Given the description of an element on the screen output the (x, y) to click on. 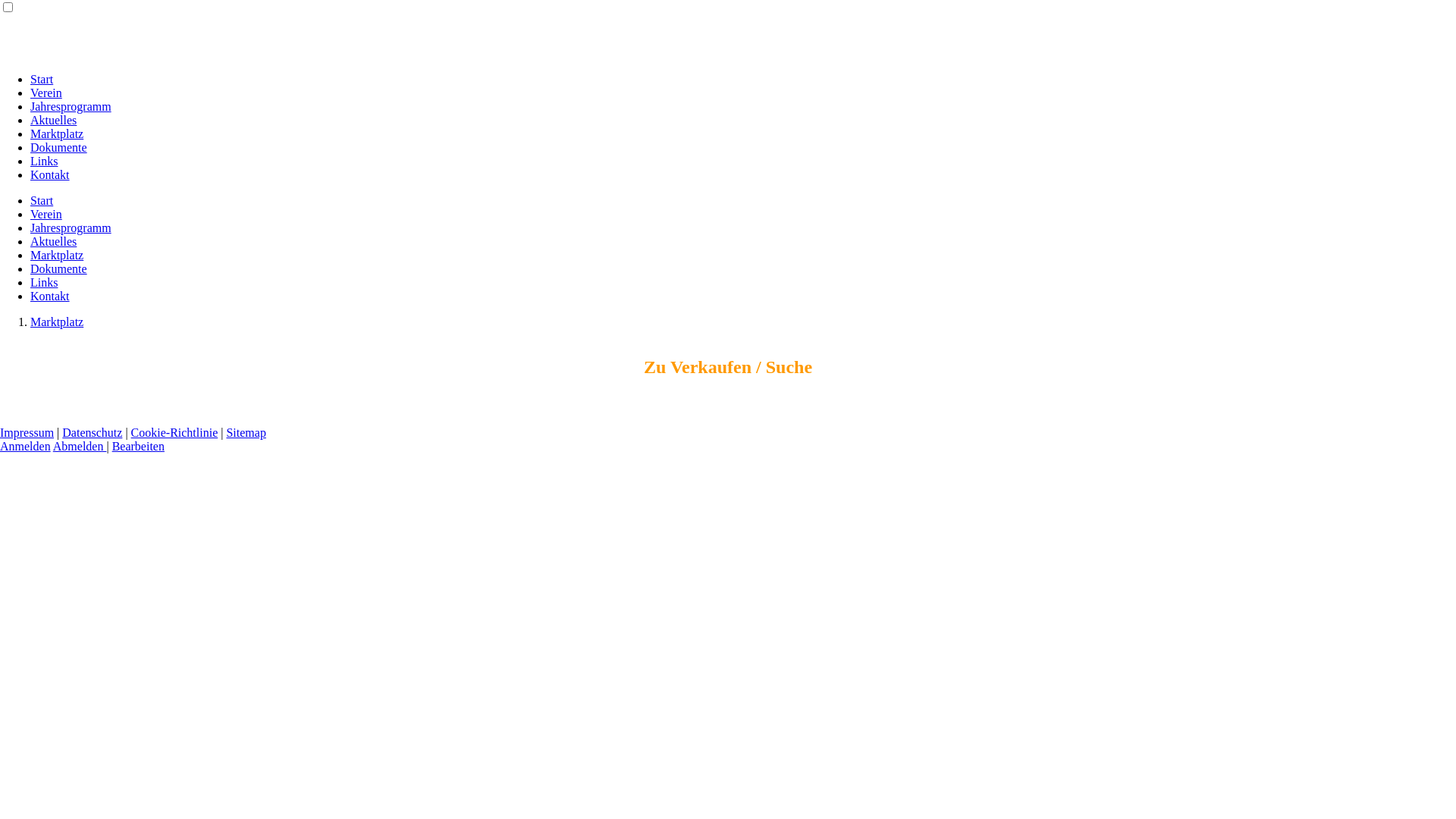
Links Element type: text (43, 282)
Sitemap Element type: text (245, 432)
Impressum Element type: text (26, 432)
Start Element type: text (41, 200)
Jahresprogramm Element type: text (70, 106)
Links Element type: text (43, 160)
Aktuelles Element type: text (53, 241)
Kontakt Element type: text (49, 295)
Marktplatz Element type: text (56, 254)
Abmelden Element type: text (79, 445)
Aktuelles Element type: text (53, 119)
Bearbeiten Element type: text (138, 445)
Verein Element type: text (46, 92)
Start Element type: text (41, 78)
Datenschutz Element type: text (92, 432)
Marktplatz Element type: text (56, 133)
Jahresprogramm Element type: text (70, 227)
Cookie-Richtlinie Element type: text (174, 432)
Dokumente Element type: text (58, 147)
Dokumente Element type: text (58, 268)
Anmelden Element type: text (25, 445)
Marktplatz Element type: text (56, 321)
Kontakt Element type: text (49, 174)
Verein Element type: text (46, 213)
